Given the description of an element on the screen output the (x, y) to click on. 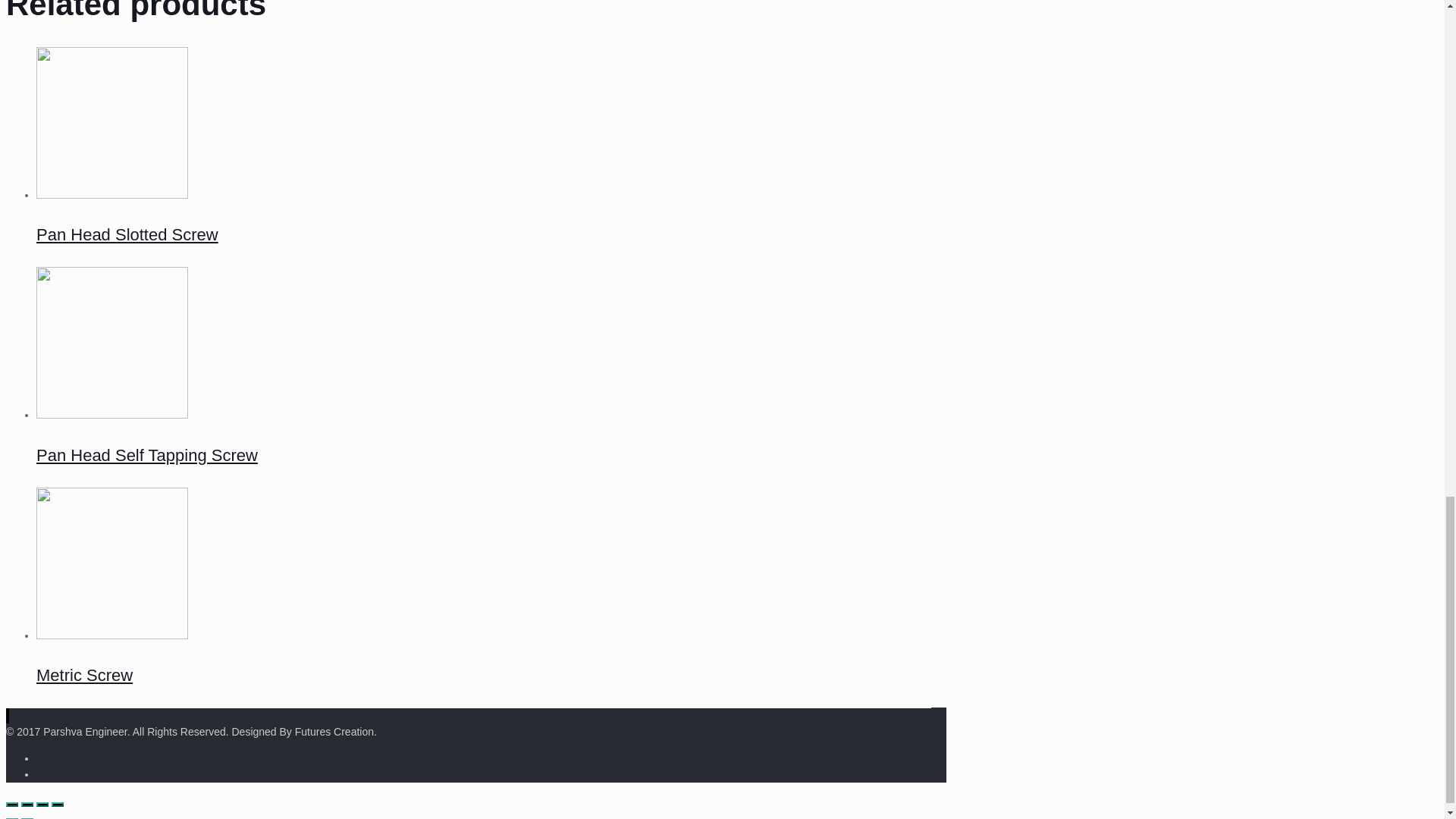
Pan Head Self Tapping Screw (146, 455)
Metric Screw (84, 674)
Pan Head Slotted Screw (127, 234)
